Given the description of an element on the screen output the (x, y) to click on. 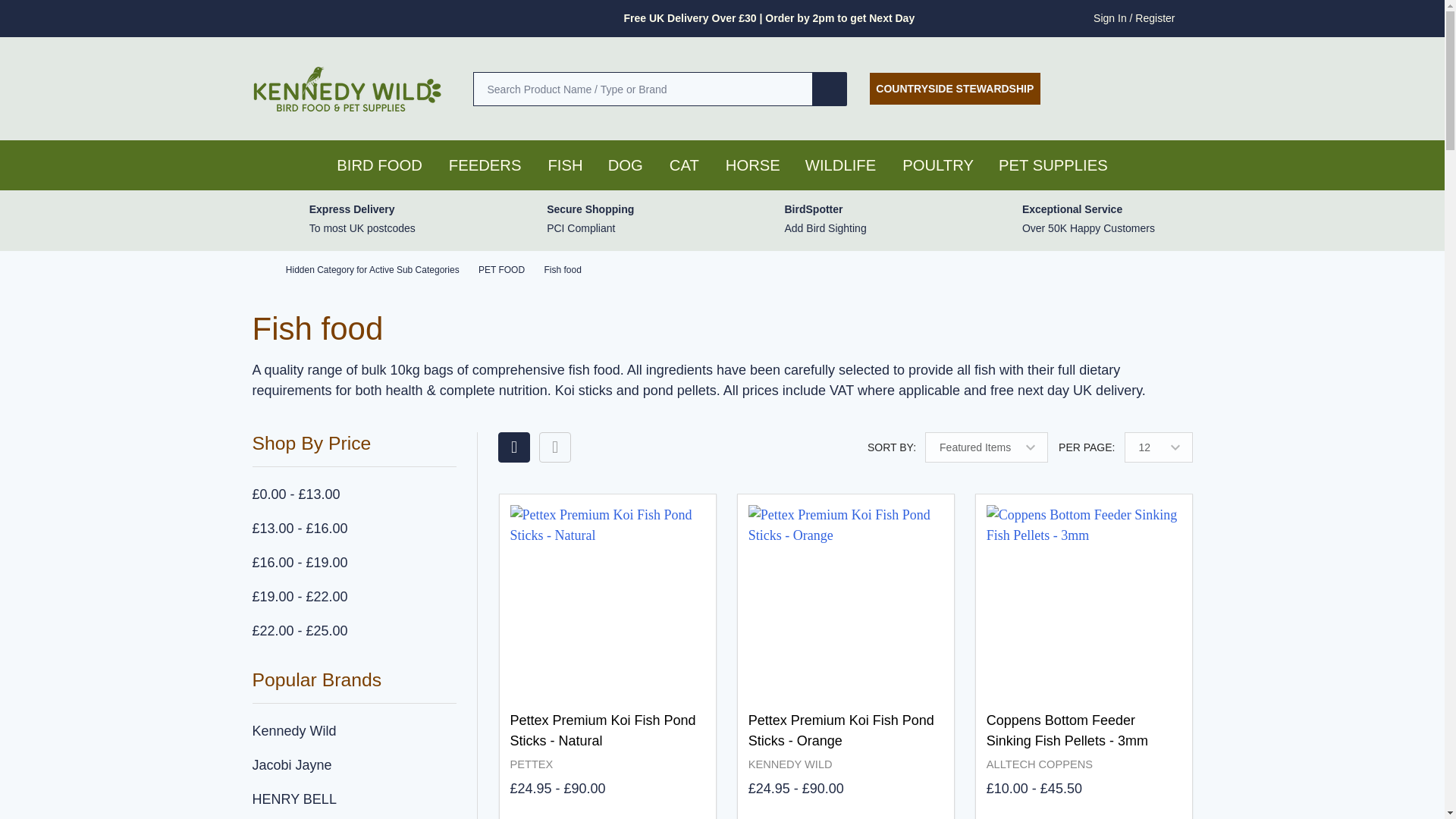
Call Us: 01778342665 (1080, 88)
Gift Certificates (1131, 88)
BIRD FOOD (375, 165)
HENRY BELL (354, 799)
SEARCH (829, 88)
FEEDERS (481, 165)
Cart (1182, 88)
FISH (564, 165)
Jacobi Jayne (354, 765)
DOG (620, 165)
Kennedy Wild (354, 731)
